Given the description of an element on the screen output the (x, y) to click on. 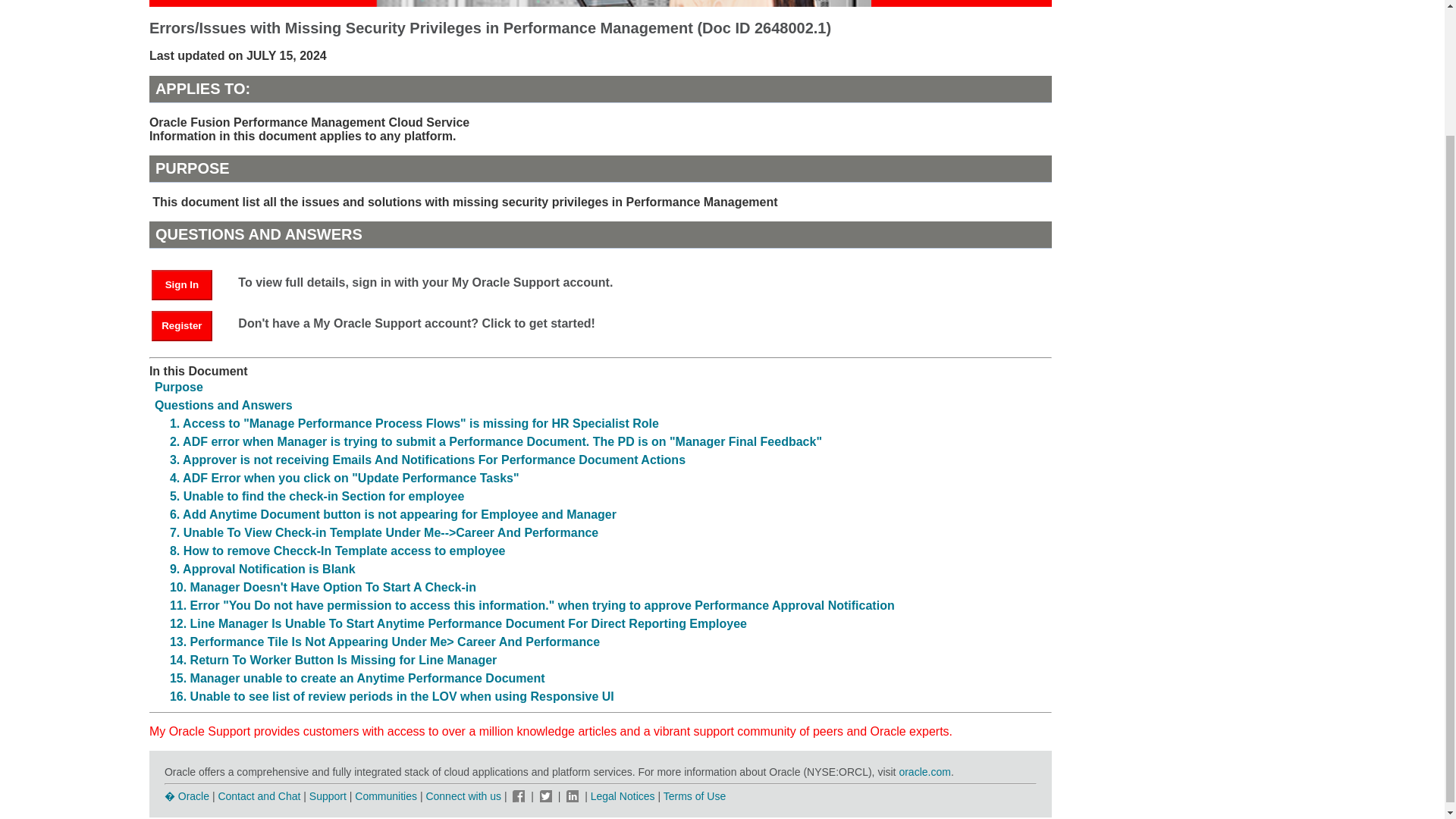
5. Unable to find the check-in Section for employee (317, 495)
Terms of Use (694, 796)
10. Manager Doesn't Have Option To Start A Check-in (323, 586)
14. Return To Worker Button Is Missing for Line Manager (333, 659)
Support (327, 796)
Register (189, 324)
